Given the description of an element on the screen output the (x, y) to click on. 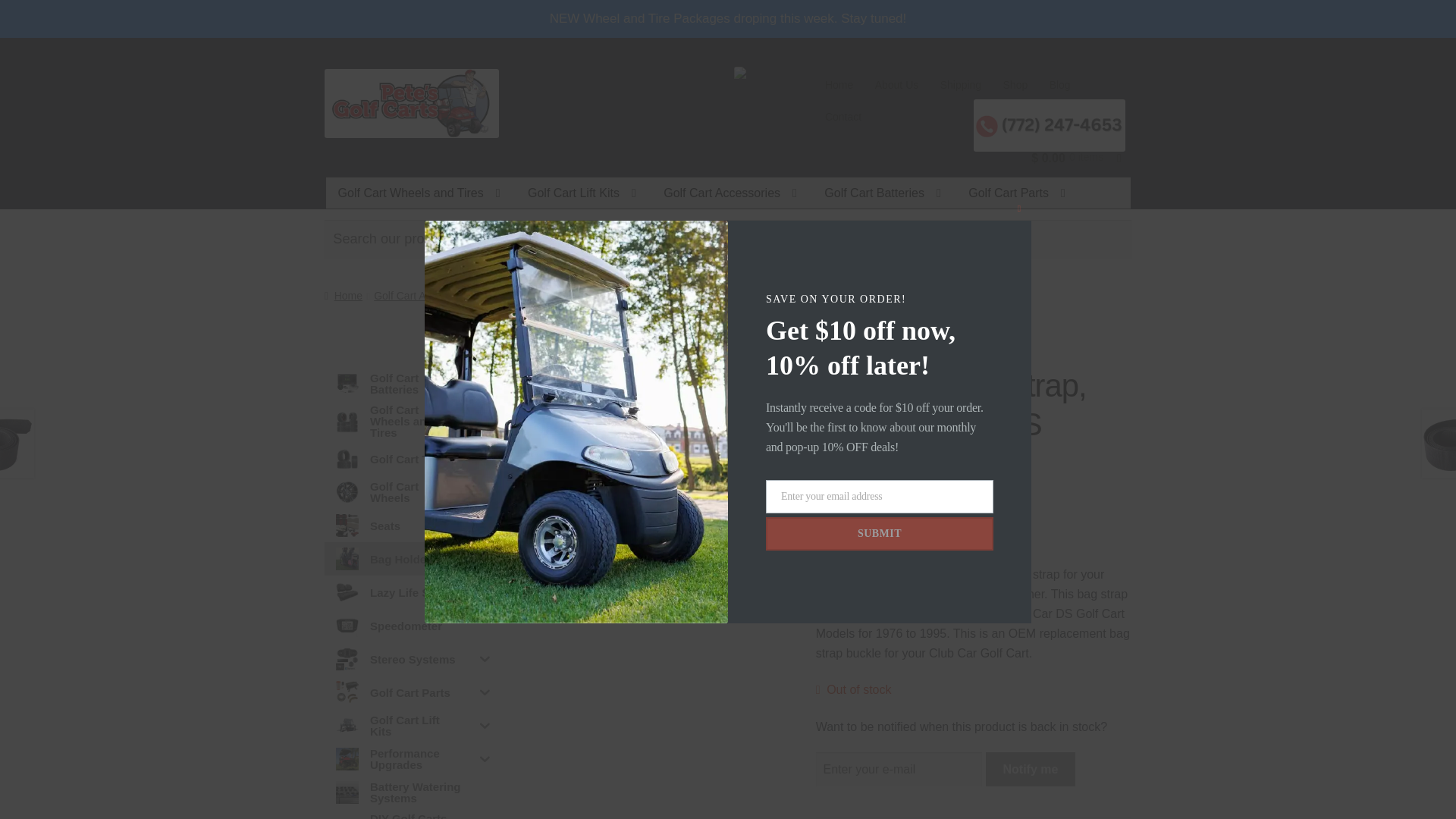
Golf Cart Lift Kits (581, 192)
Home (839, 84)
Contact (842, 116)
View your shopping cart (1054, 158)
About Us (895, 84)
Blog (1059, 84)
Golf Cart Wheels and Tires (419, 192)
Shop (1014, 84)
Shipping (960, 84)
